Given the description of an element on the screen output the (x, y) to click on. 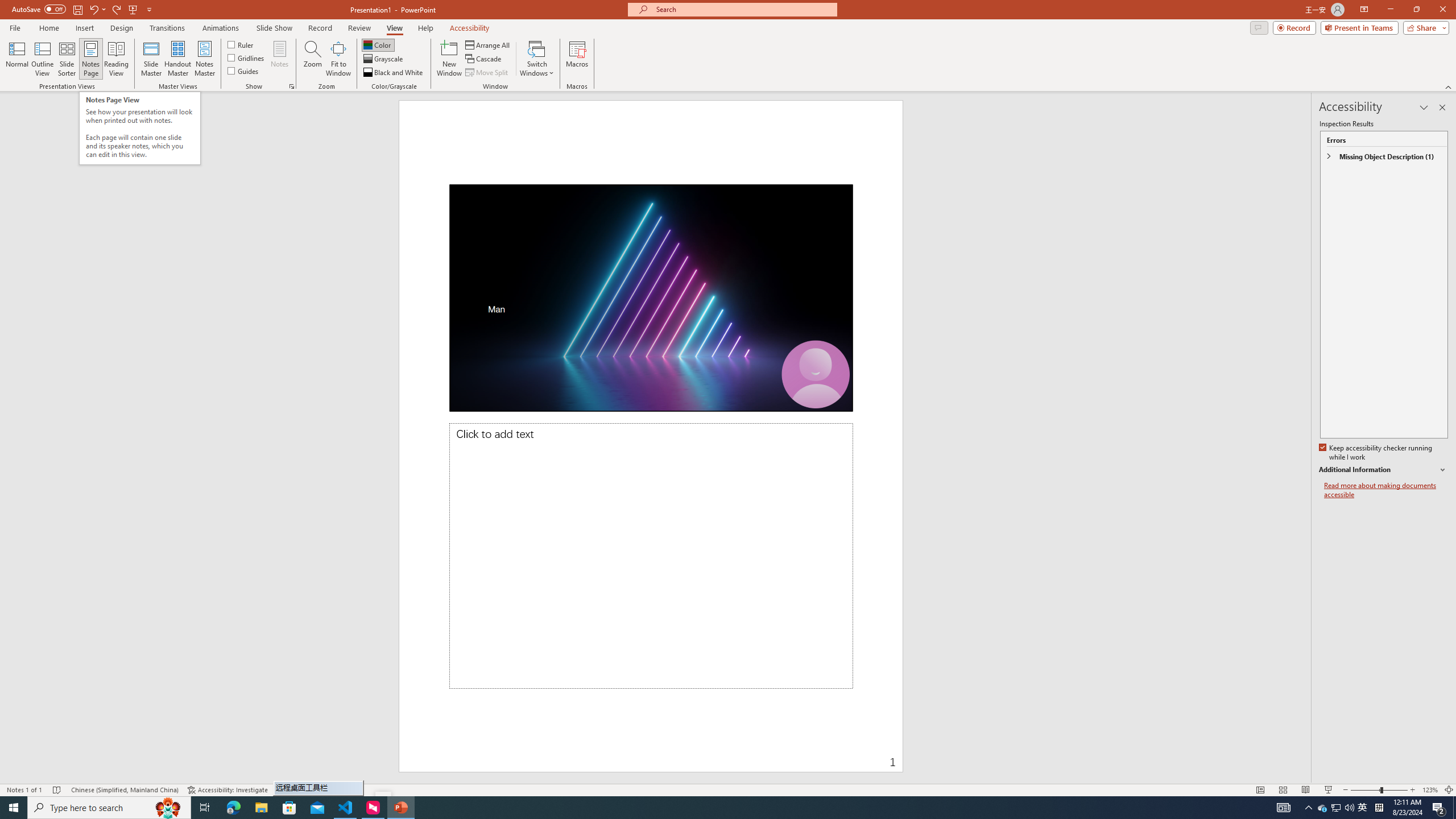
Color (377, 44)
Notes (279, 58)
Arrange All (488, 44)
Notes Page (90, 58)
